Given the description of an element on the screen output the (x, y) to click on. 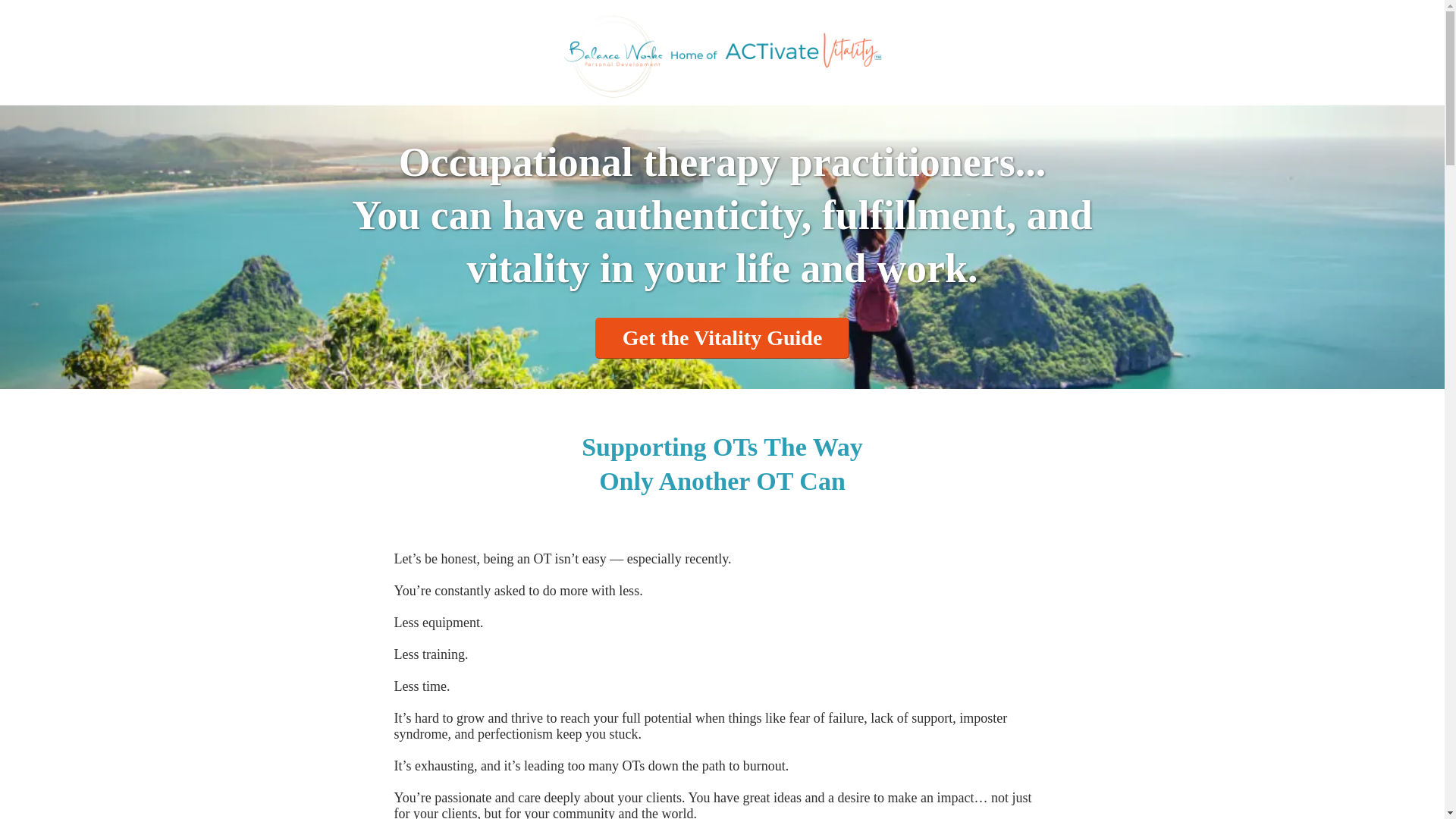
Get the Vitality Guide (722, 337)
